Given the description of an element on the screen output the (x, y) to click on. 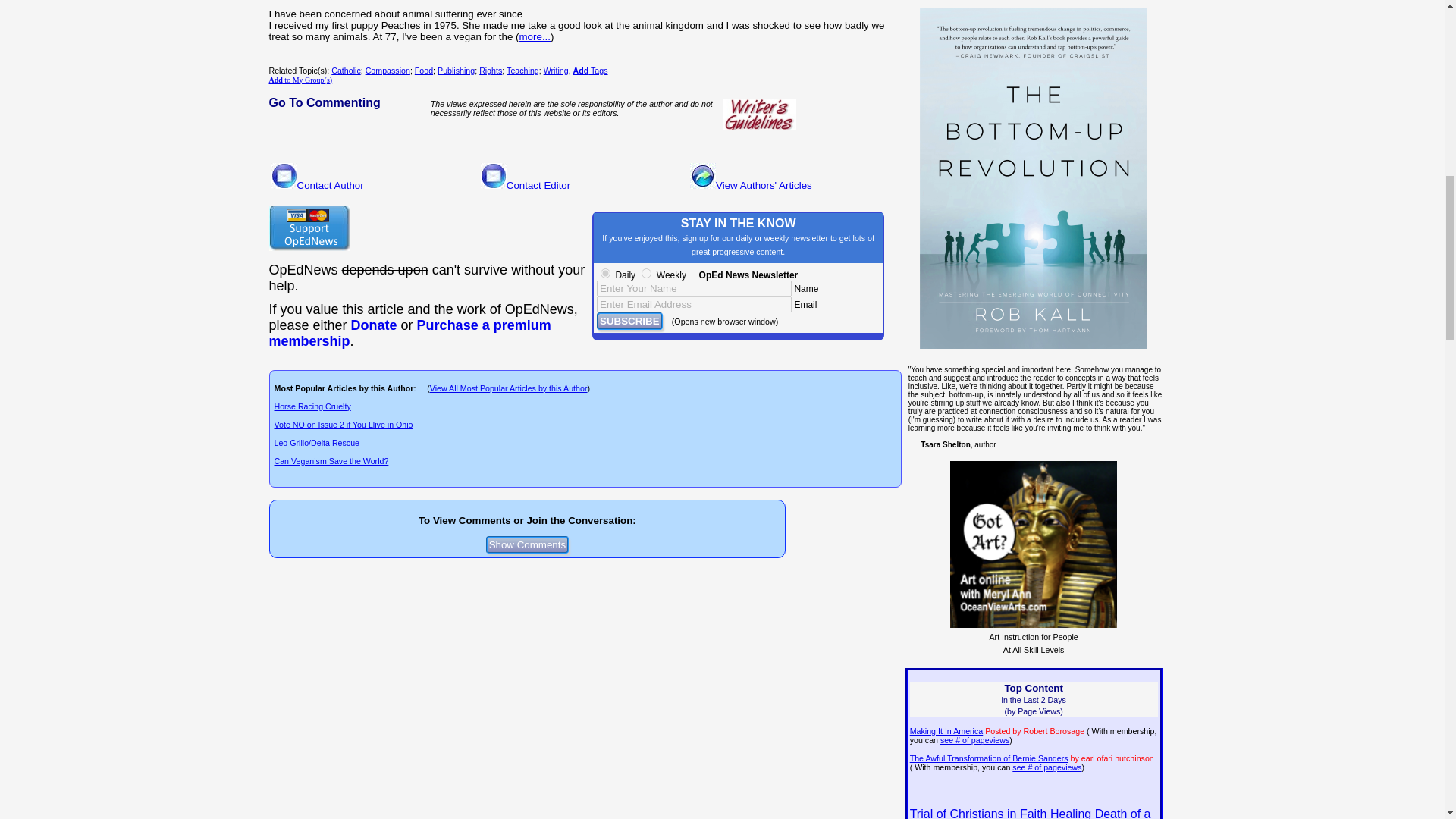
Enter Email Address (694, 304)
Contact Editor (538, 184)
SUBSCRIBE (629, 321)
Go To Commenting (323, 102)
-- (373, 324)
Compassion (387, 70)
Catholic (346, 70)
Writers Guidelines (759, 115)
Contact Author (330, 184)
Writing (556, 70)
Daily (604, 273)
Weekly (646, 273)
Food (423, 70)
more... (534, 36)
Rights (490, 70)
